Given the description of an element on the screen output the (x, y) to click on. 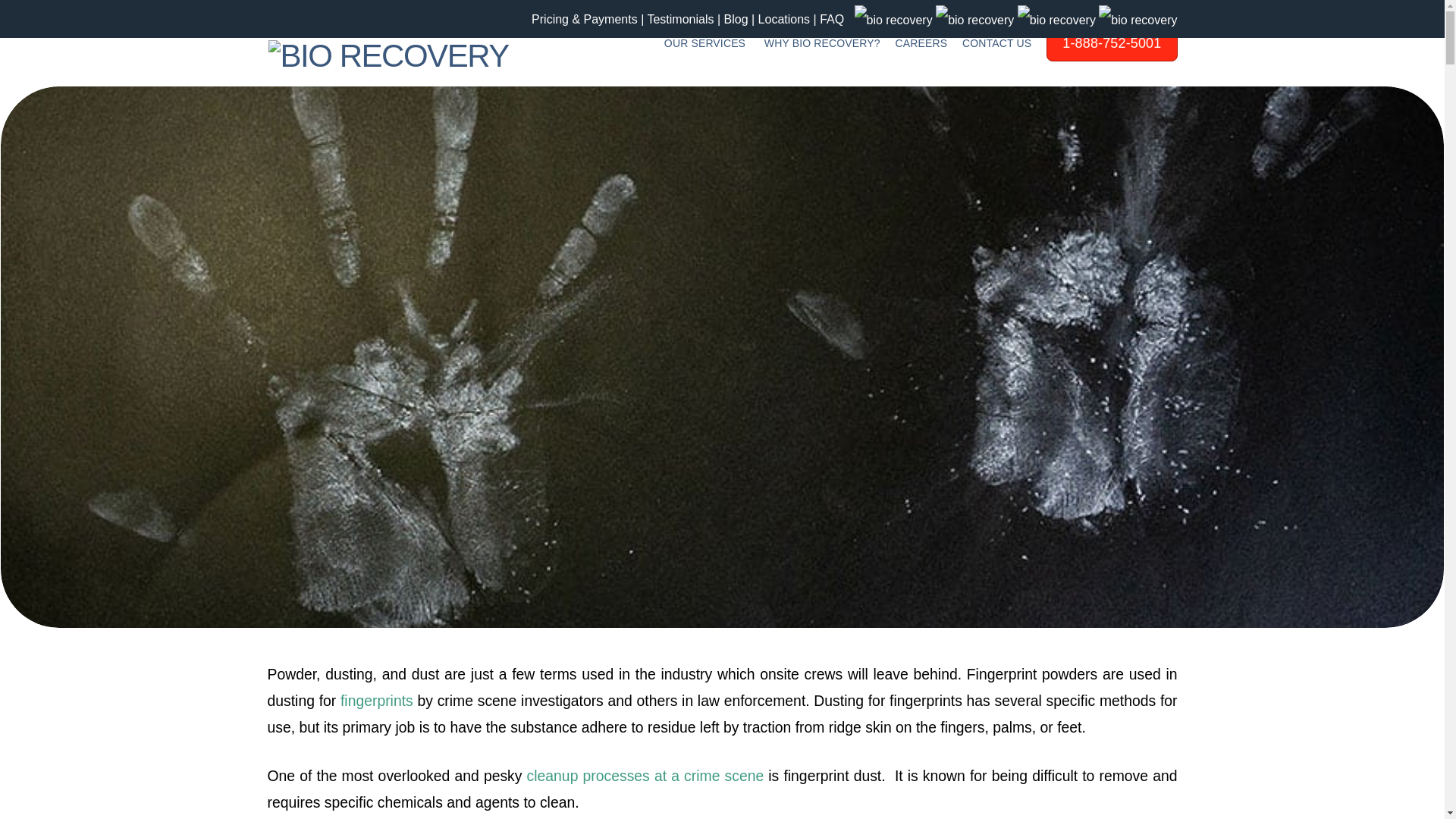
CAREERS (921, 44)
WHY BIO RECOVERY? (822, 44)
CONTACT US (997, 44)
1-888-752-5001 (1107, 51)
FAQ (831, 19)
Locations (784, 19)
OUR SERVICES (706, 44)
Testimonials (679, 19)
Blog (735, 19)
